Given the description of an element on the screen output the (x, y) to click on. 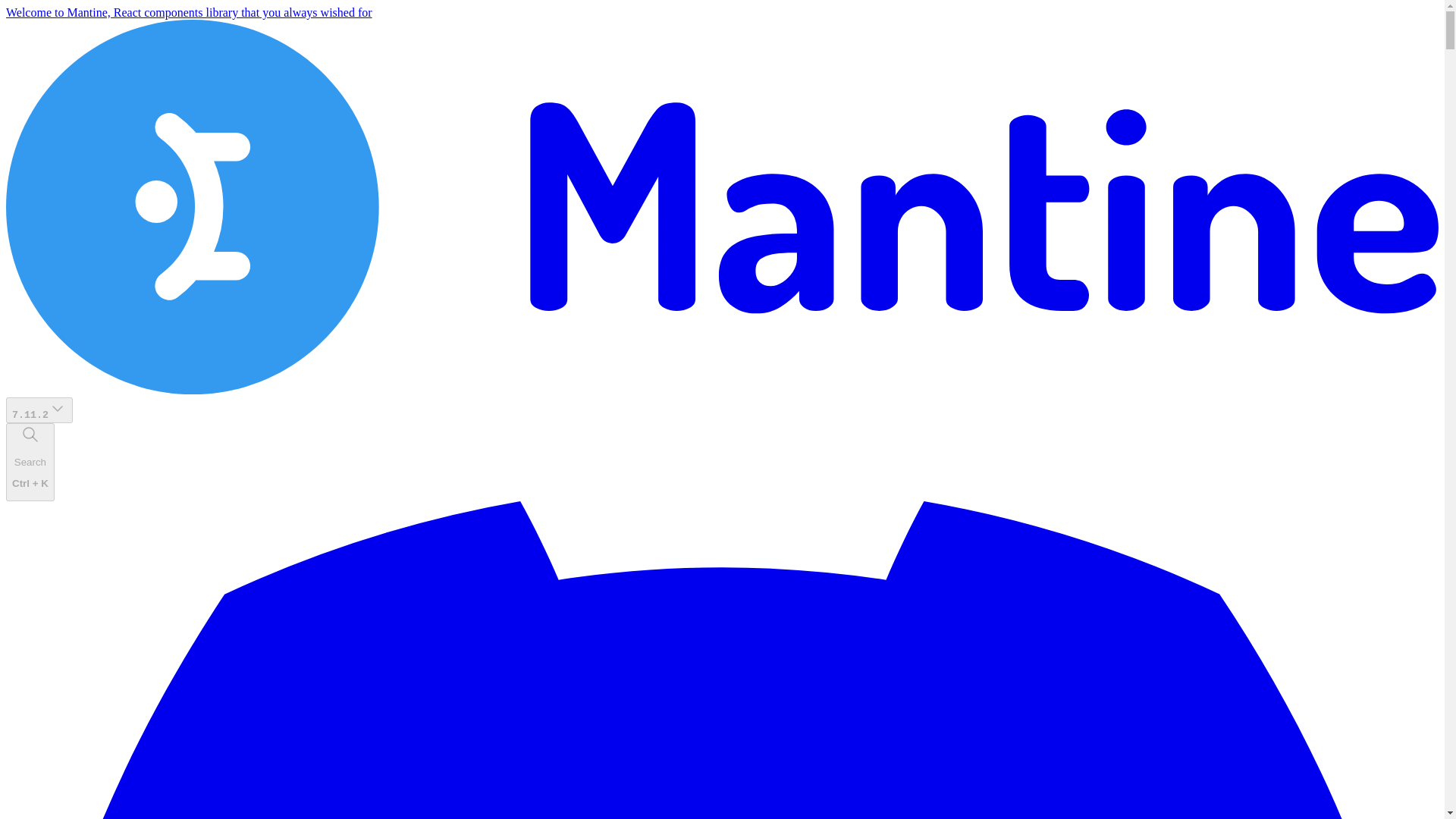
7.11.2 (38, 410)
